Given the description of an element on the screen output the (x, y) to click on. 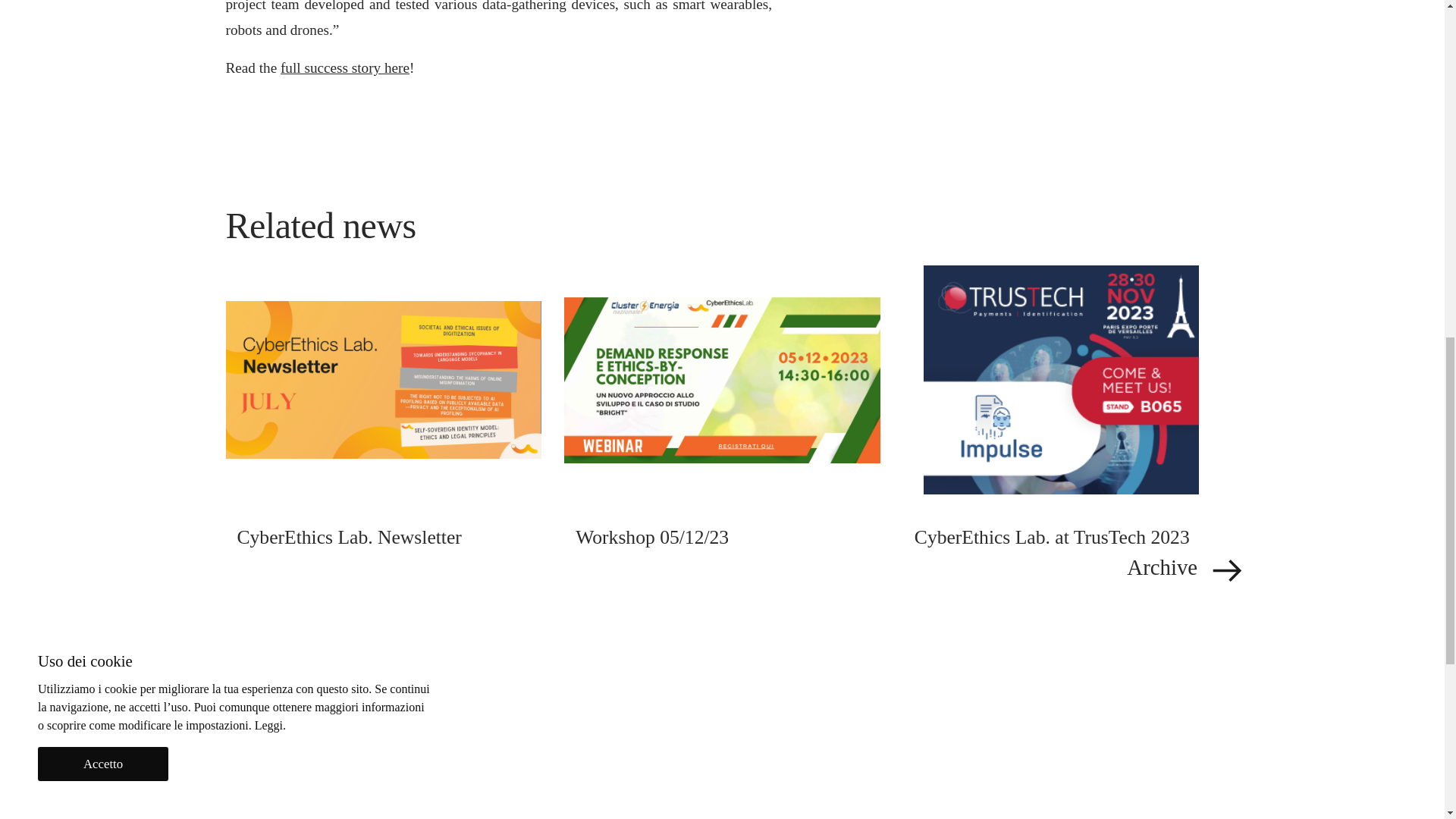
Archive (733, 570)
CyberEthics Lab. at TrusTech 2023 (1061, 537)
CyberEthics Lab. Newsletter (383, 537)
full success story here (345, 67)
